Given the description of an element on the screen output the (x, y) to click on. 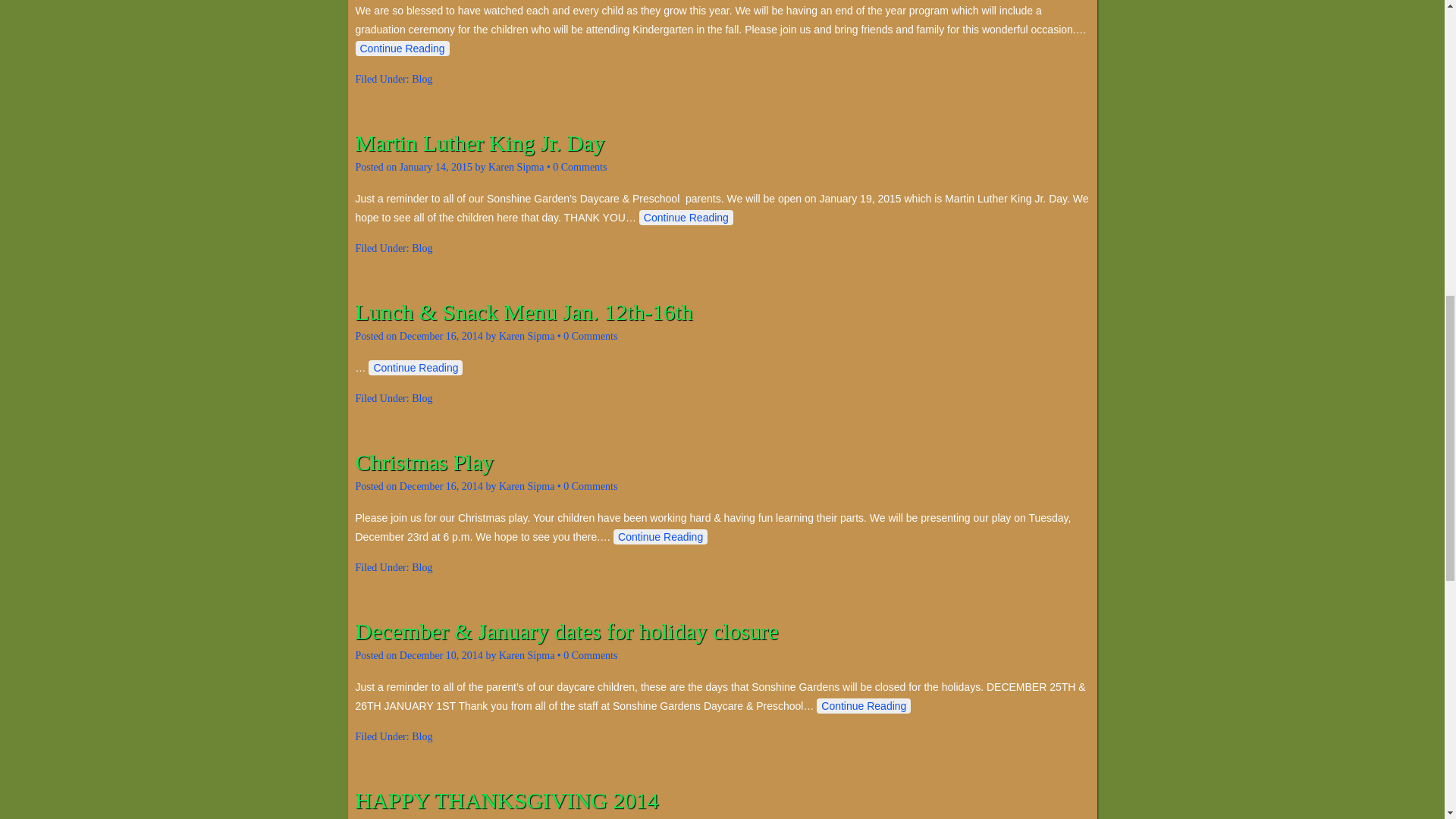
Karen Sipma (515, 166)
Karen Sipma (526, 486)
Karen Sipma (526, 336)
Continue Reading (686, 217)
Martin Luther King Jr. Day (479, 142)
Christmas Play (424, 462)
View all posts by Karen Sipma (515, 166)
Blog (422, 398)
Blog (422, 247)
Continue Reading (659, 536)
0 Comments (590, 486)
Continue Reading (401, 48)
2015-01-14T18:10:22-08:00 (434, 166)
Continue Reading (415, 367)
Blog (422, 79)
